Given the description of an element on the screen output the (x, y) to click on. 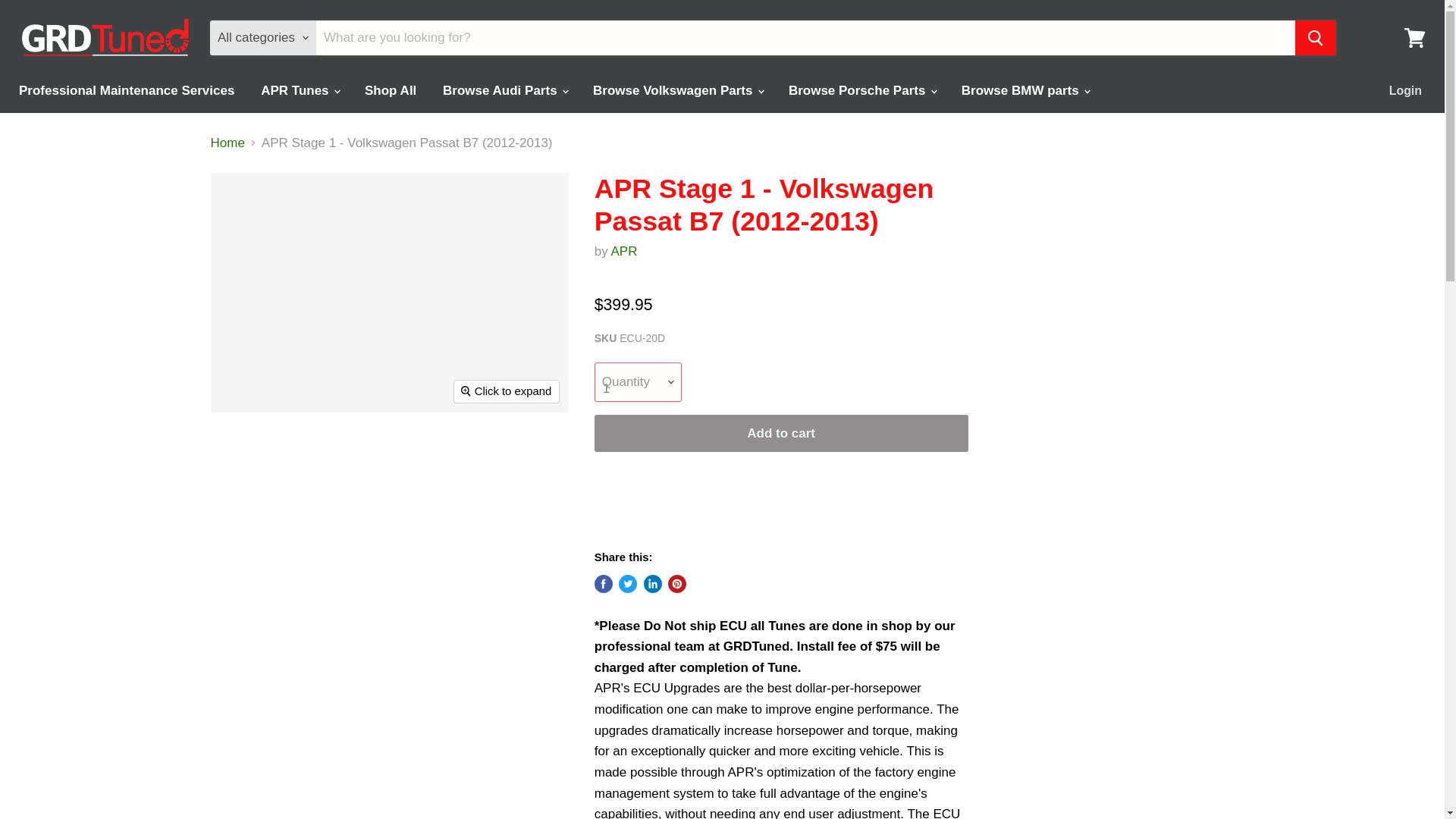
View cart (1414, 37)
APR (624, 251)
Professional Maintenance Services (126, 90)
Browse Audi Parts (504, 90)
Shop All (390, 90)
APR Tunes (298, 90)
